Given the description of an element on the screen output the (x, y) to click on. 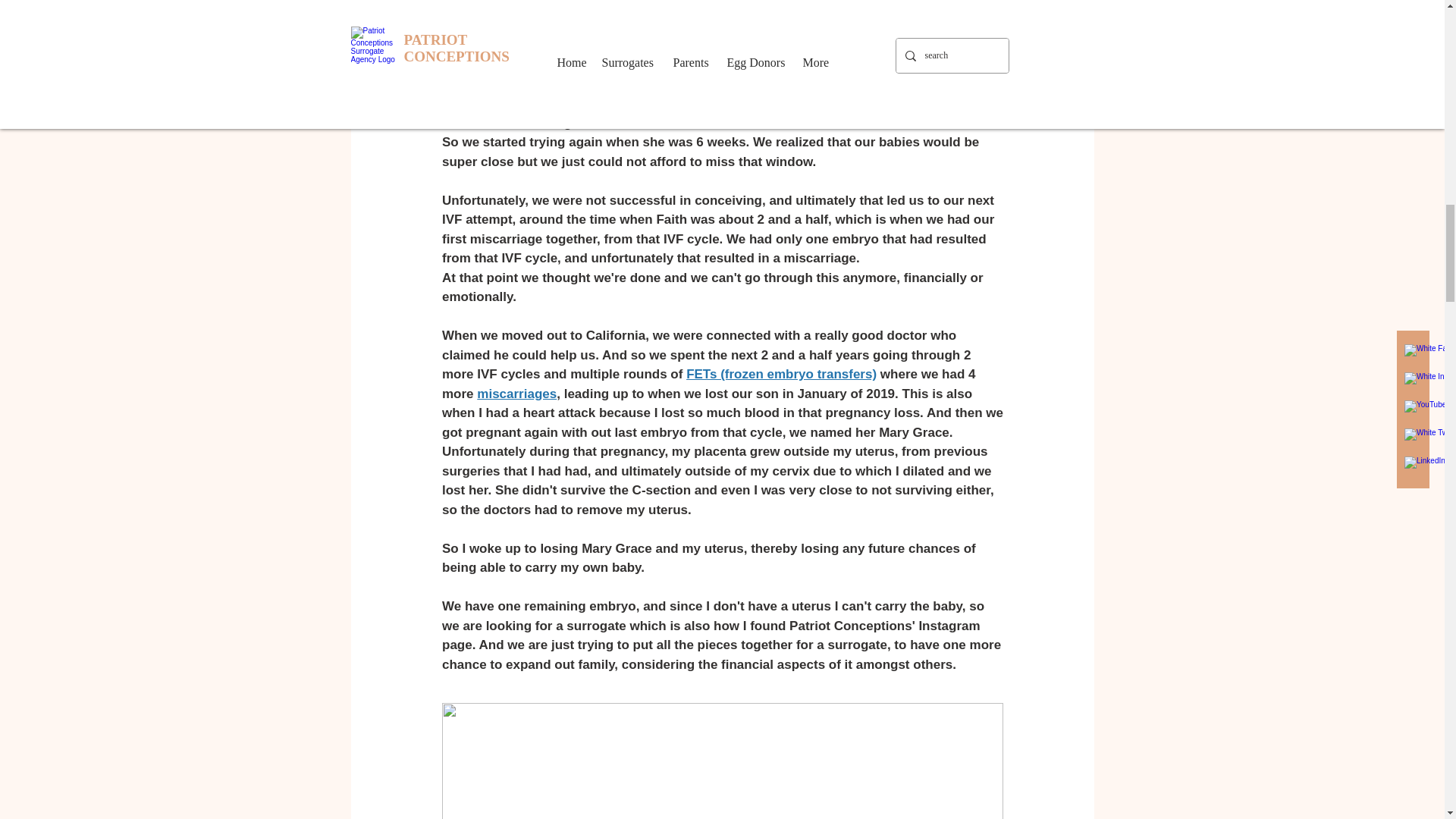
IUI (523, 45)
